Given the description of an element on the screen output the (x, y) to click on. 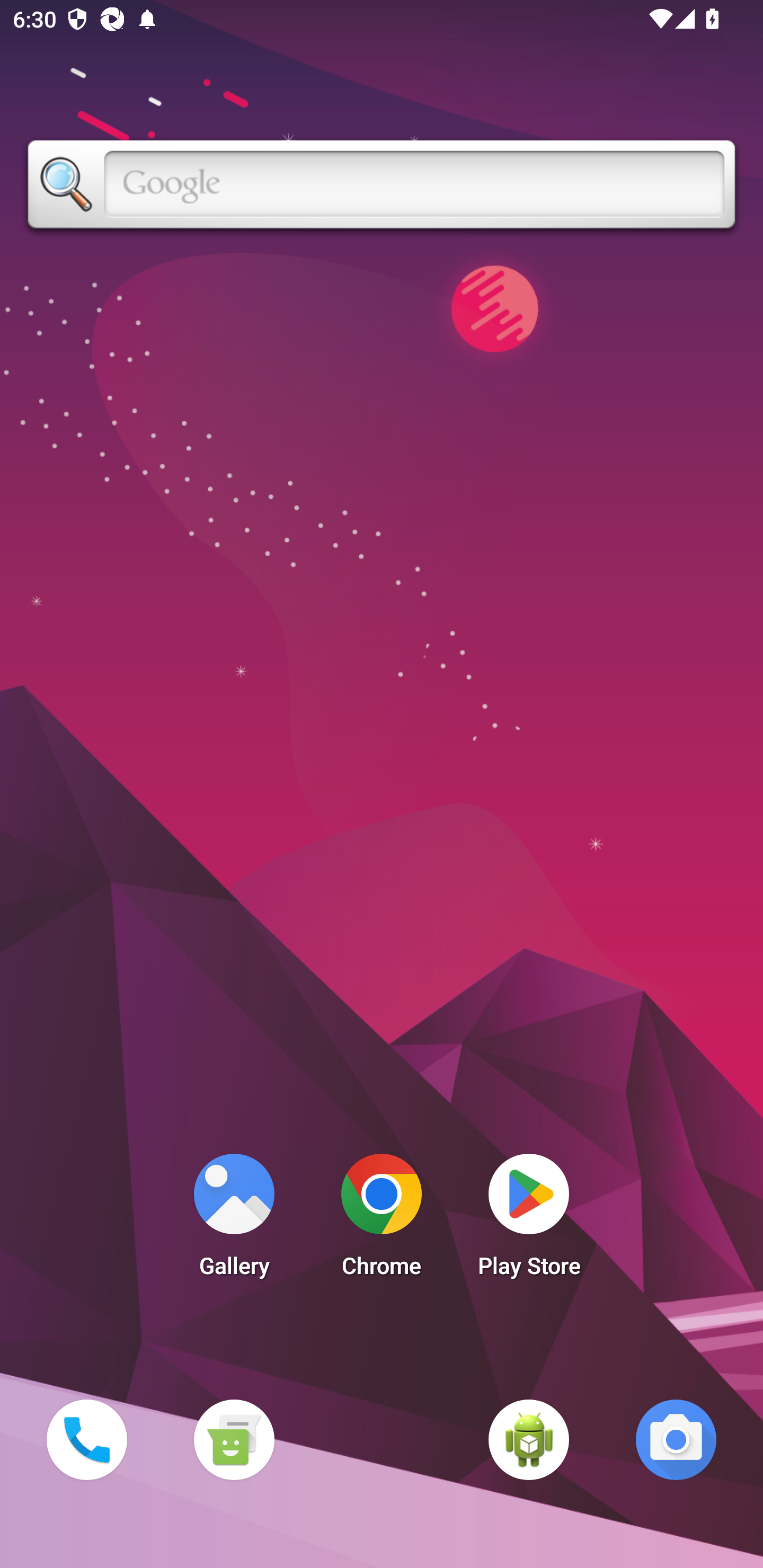
Gallery (233, 1220)
Chrome (381, 1220)
Play Store (528, 1220)
Phone (86, 1439)
Messaging (233, 1439)
WebView Browser Tester (528, 1439)
Camera (676, 1439)
